Given the description of an element on the screen output the (x, y) to click on. 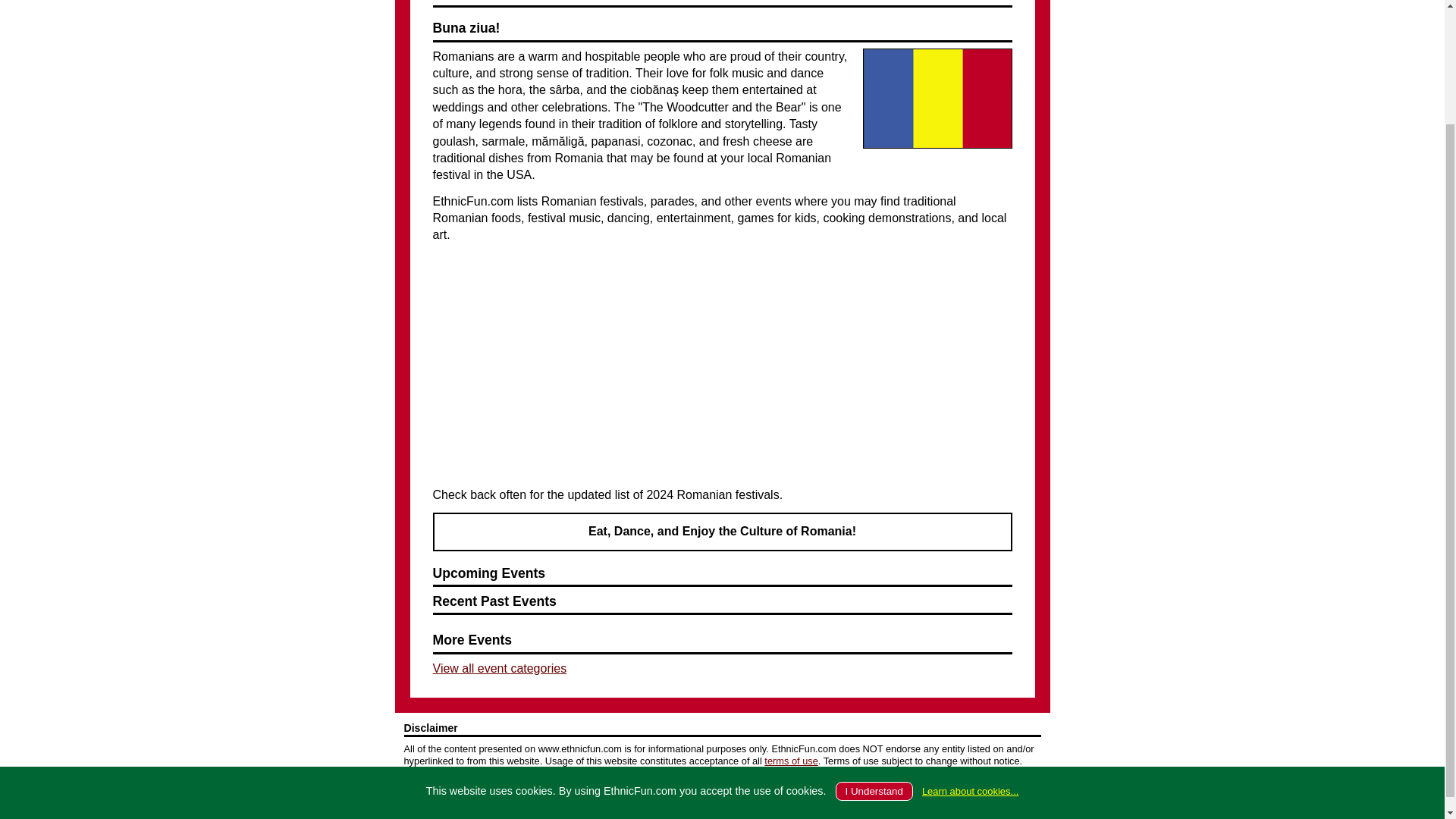
Learn about cookies... (969, 652)
home (649, 795)
terms of use (790, 760)
Advertisement (721, 365)
list (694, 795)
credits (856, 795)
sitemap (915, 795)
terms (741, 795)
I Understand (873, 651)
View all event categories (499, 667)
